Given the description of an element on the screen output the (x, y) to click on. 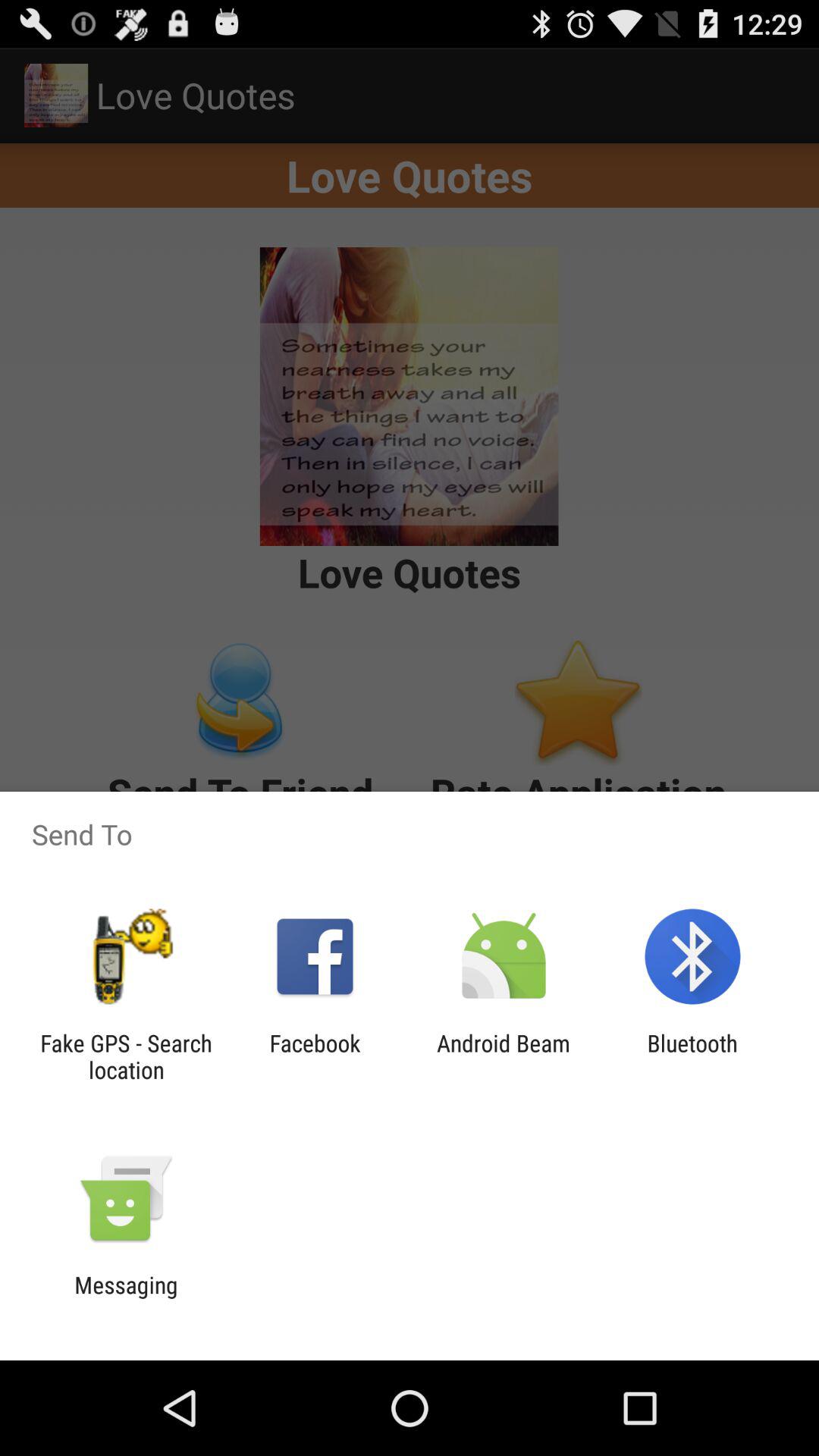
launch the app to the left of the facebook (125, 1056)
